Given the description of an element on the screen output the (x, y) to click on. 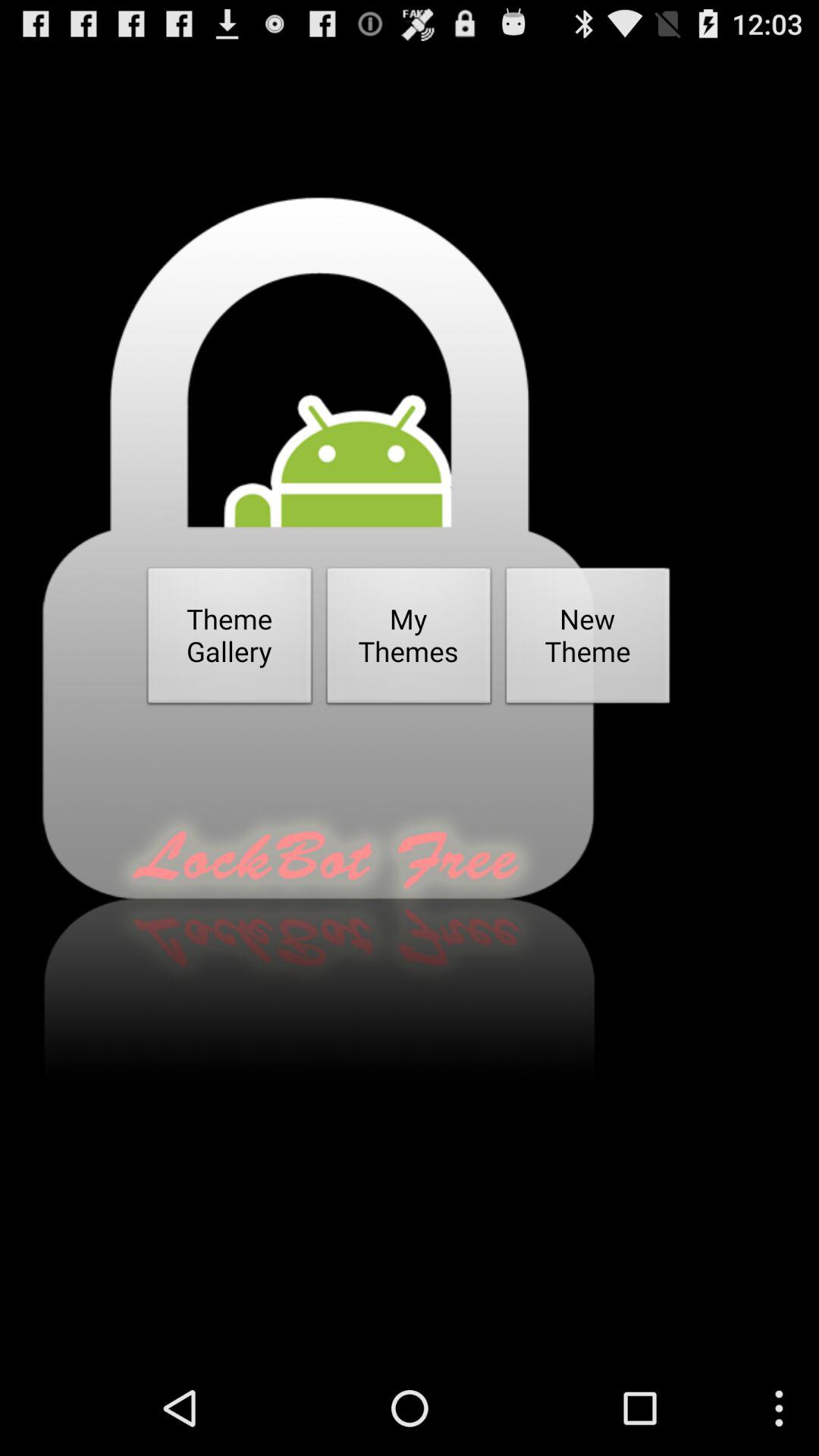
choose item to the left of my themes item (229, 639)
